Given the description of an element on the screen output the (x, y) to click on. 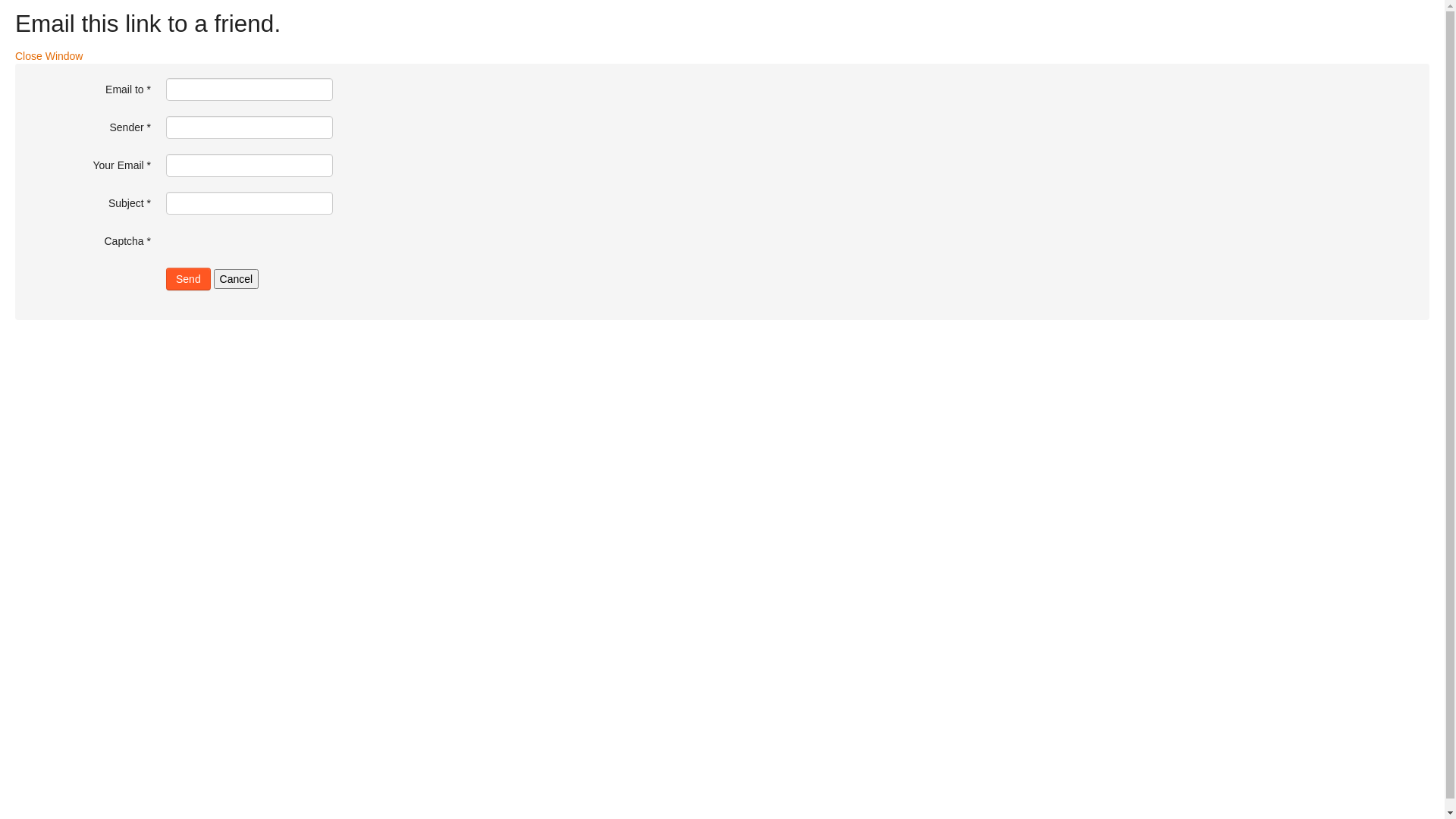
Send Element type: text (188, 278)
Cancel Element type: text (236, 278)
Close Window Element type: text (48, 56)
